Given the description of an element on the screen output the (x, y) to click on. 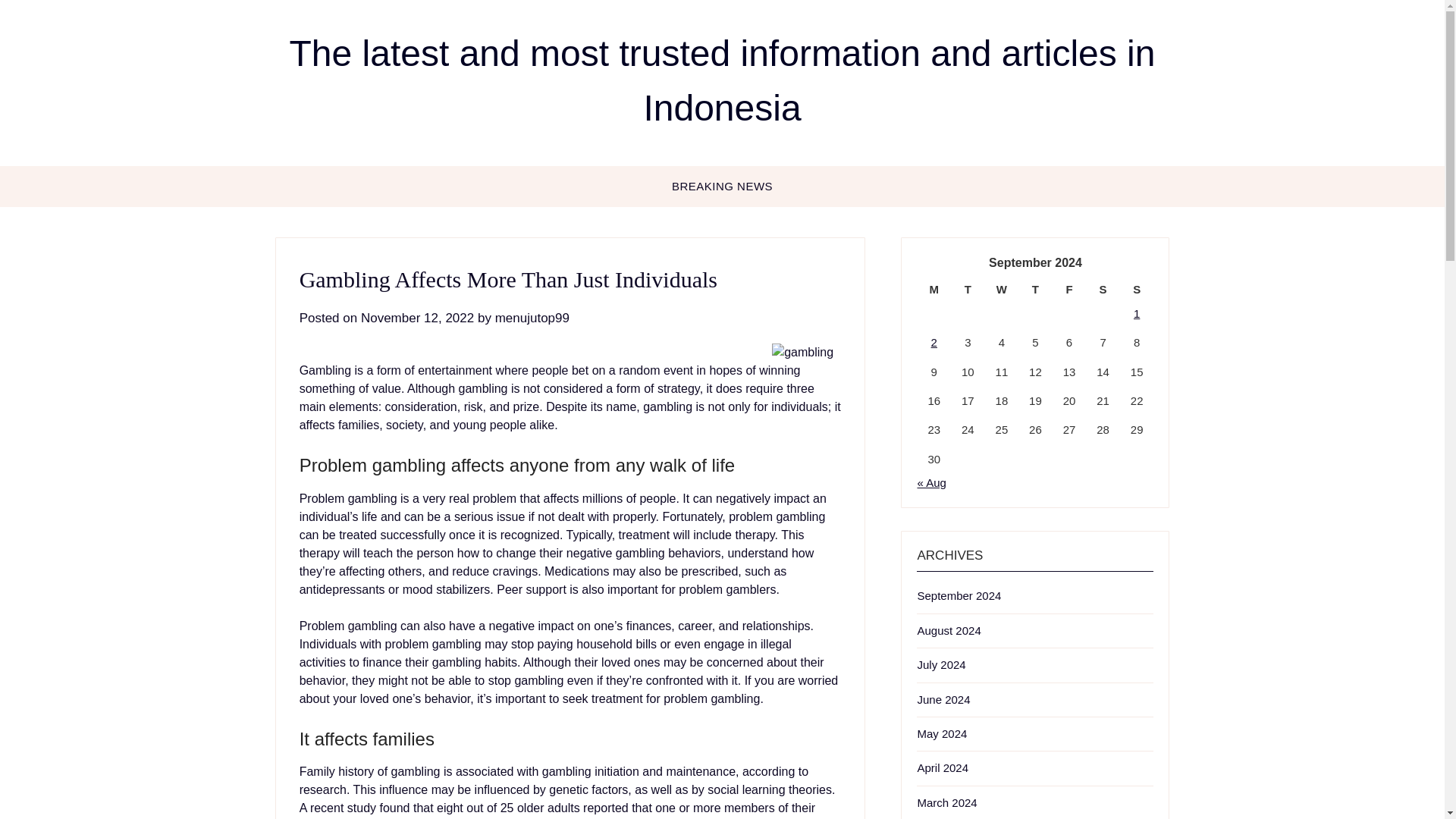
Friday (1069, 289)
July 2024 (941, 664)
November 12, 2022 (417, 318)
April 2024 (942, 767)
Monday (933, 289)
March 2024 (946, 802)
menujutop99 (532, 318)
Saturday (1102, 289)
Wednesday (1002, 289)
Sunday (1136, 289)
